Given the description of an element on the screen output the (x, y) to click on. 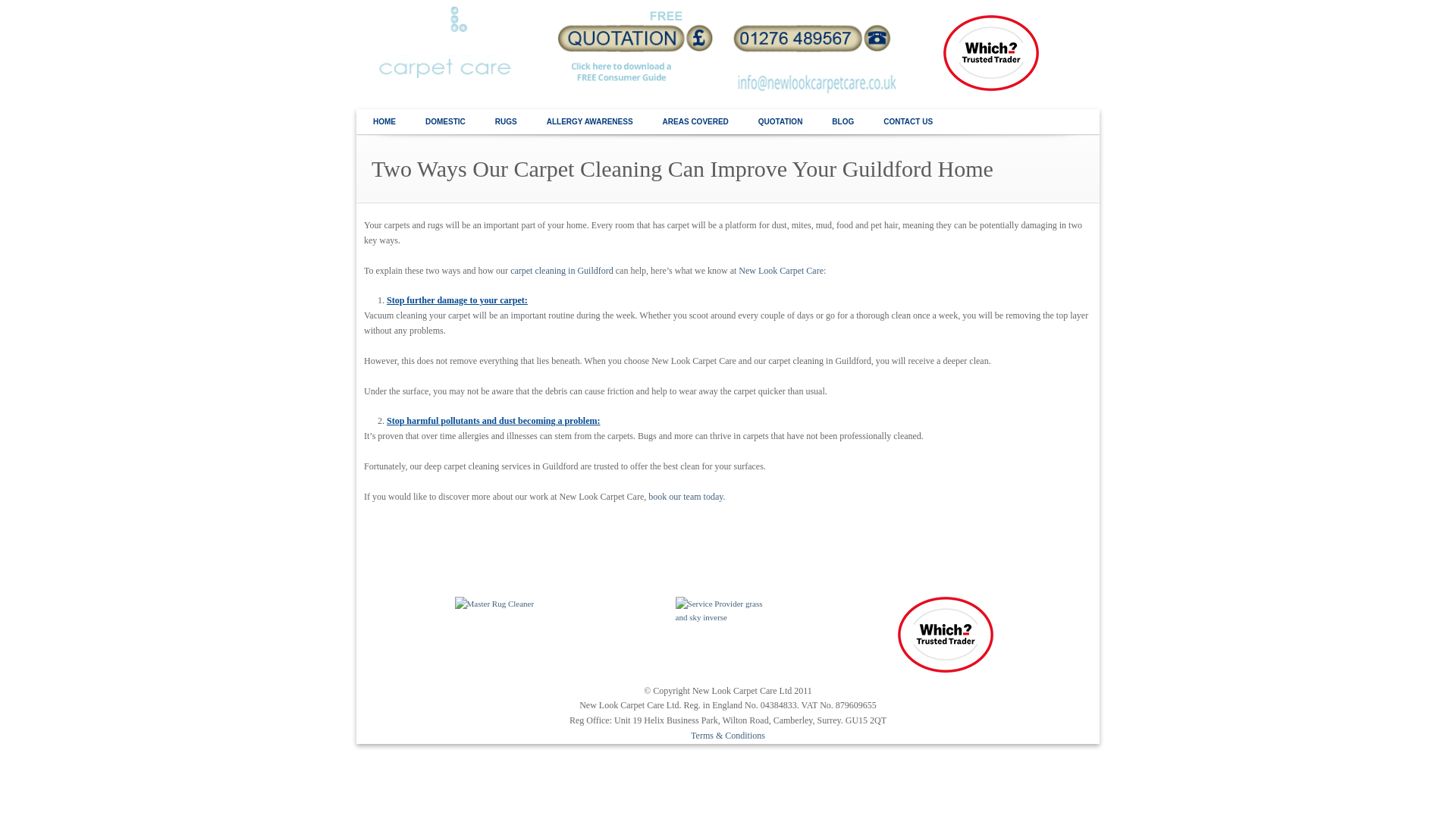
BLOG (842, 122)
RUGS (505, 122)
DOMESTIC (445, 122)
book our team today (684, 496)
ALLERGY AWARENESS (590, 122)
QUOTATION (780, 122)
AREAS COVERED (695, 122)
New Look Carpet Care (781, 270)
HOME (384, 122)
carpet cleaning in Guildford (561, 270)
